Given the description of an element on the screen output the (x, y) to click on. 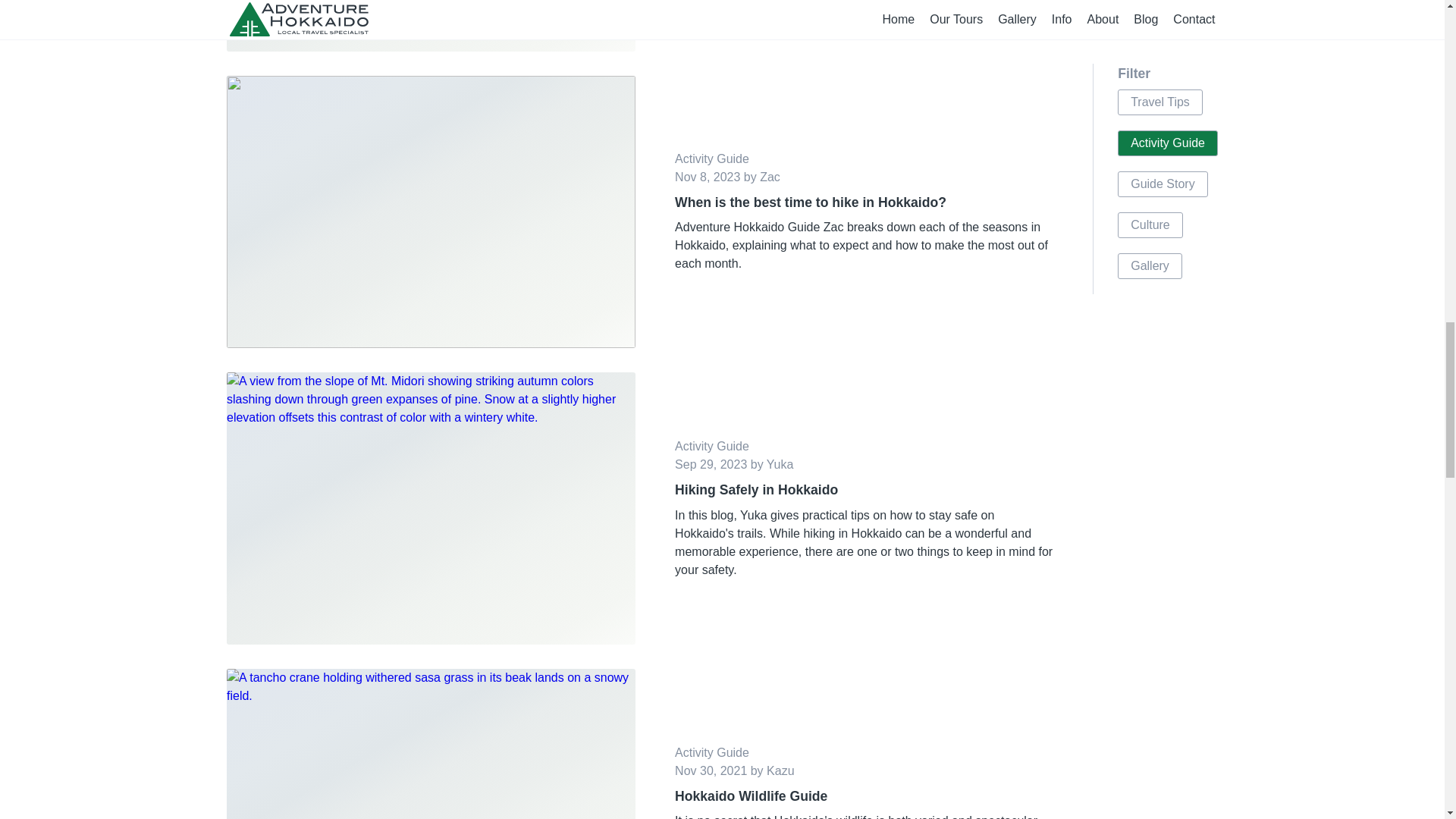
Hiking Safely in Hokkaido (863, 489)
When is the best time to hike in Hokkaido? (863, 202)
Hokkaido Wildlife Guide (863, 795)
